Given the description of an element on the screen output the (x, y) to click on. 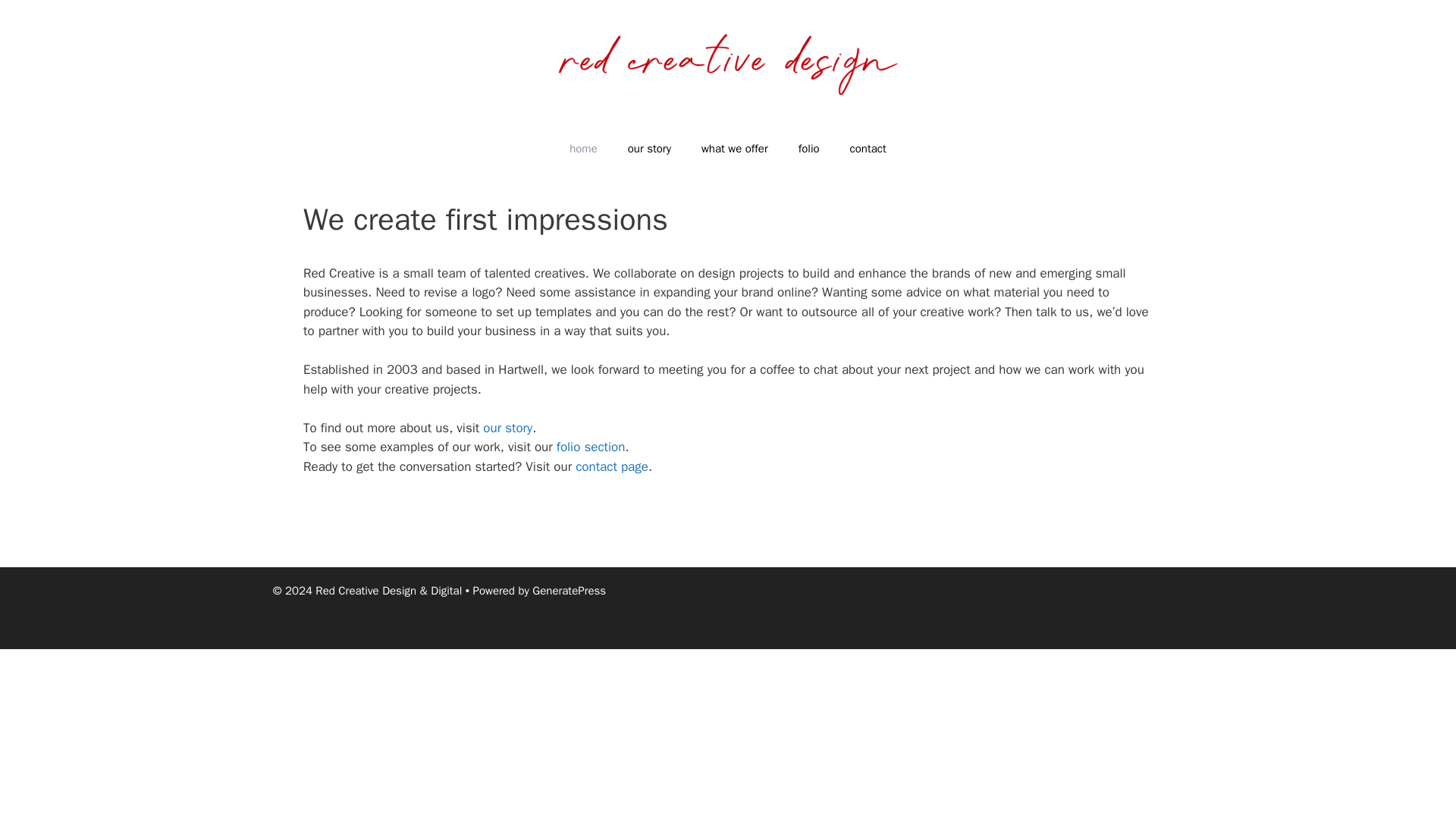
our story (507, 427)
our story (648, 148)
folio (808, 148)
what we offer (734, 148)
contact page (611, 466)
contact (867, 148)
folio section (591, 446)
GeneratePress (568, 590)
home (583, 148)
